Given the description of an element on the screen output the (x, y) to click on. 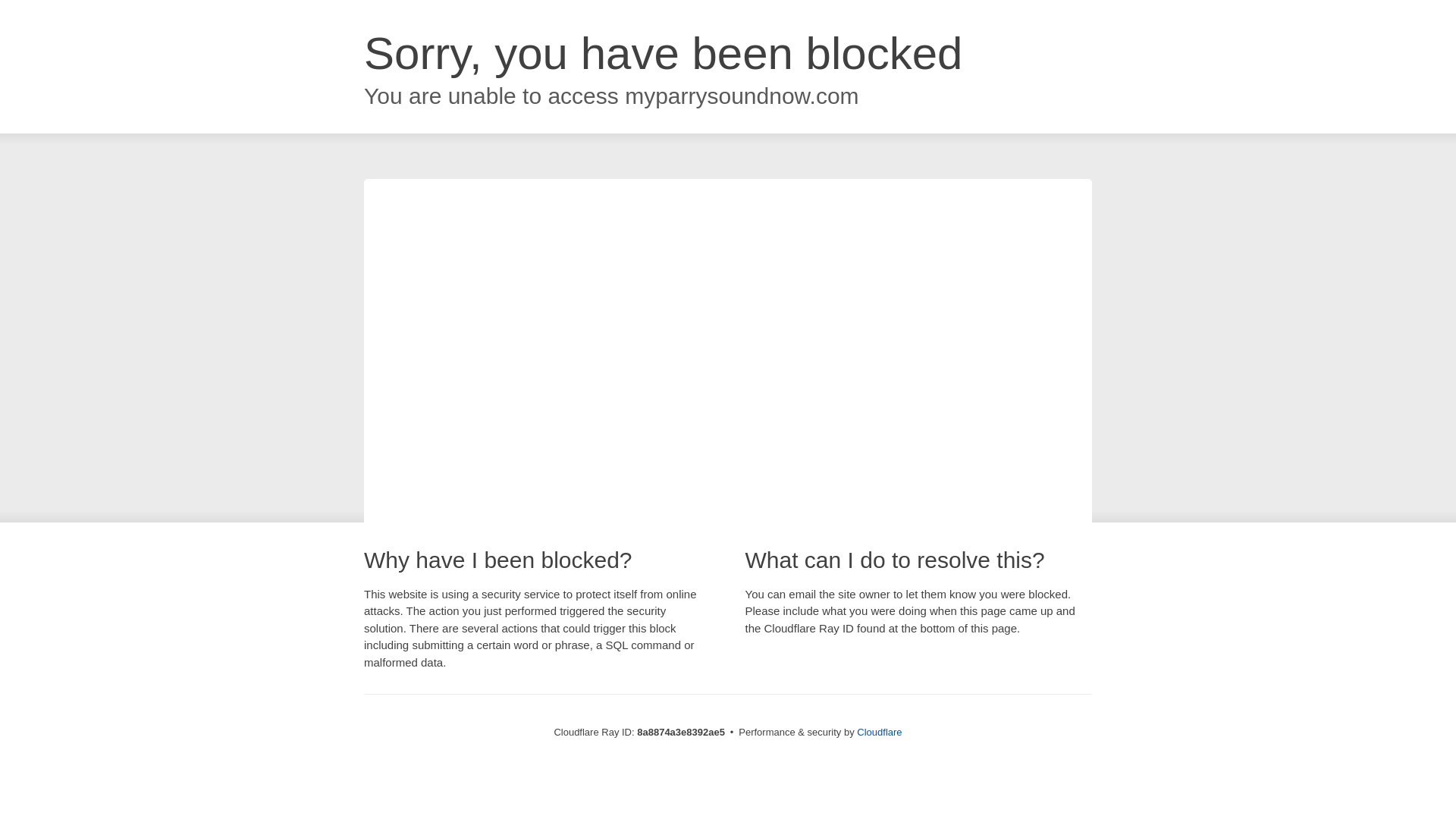
Cloudflare (879, 731)
